Given the description of an element on the screen output the (x, y) to click on. 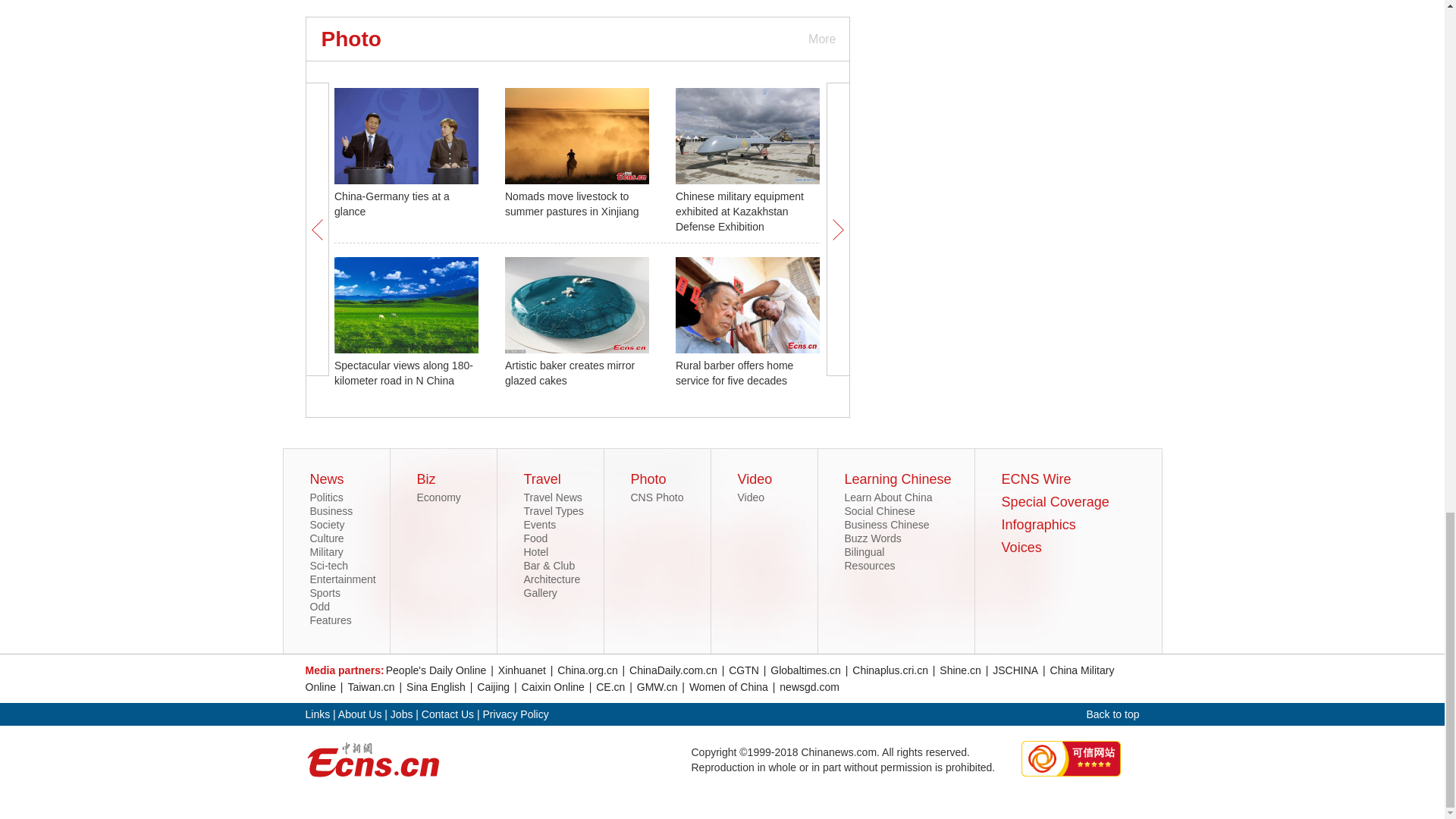
China-Germany ties at a glance (391, 203)
Spectacular views along 180-kilometer road in N China (403, 372)
Nomads move livestock to summer pastures in Xinjiang (572, 203)
More (820, 38)
